Given the description of an element on the screen output the (x, y) to click on. 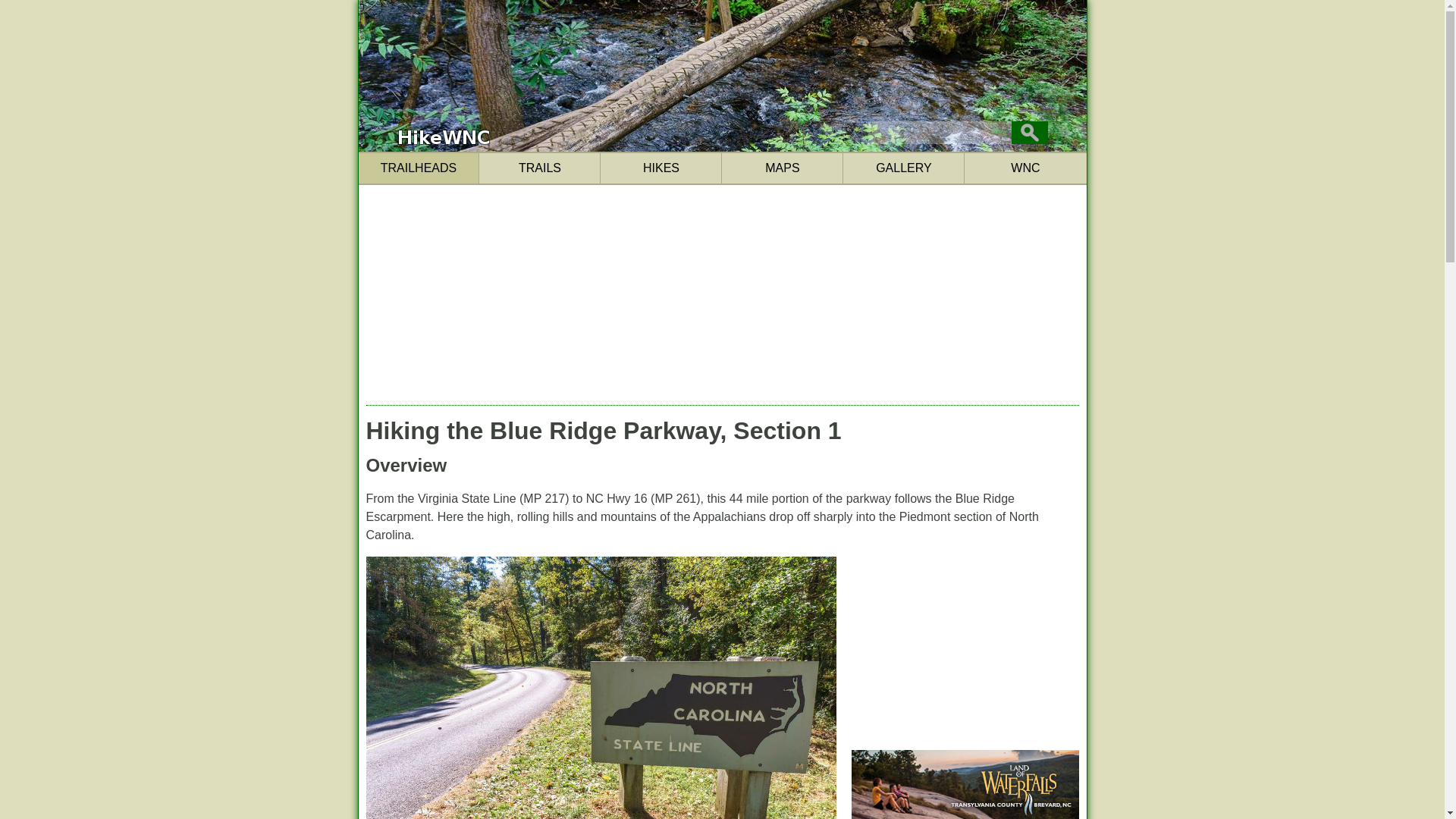
WNC (1024, 168)
HIKES (660, 168)
GALLERY (903, 168)
TRAILHEADS (418, 168)
Search (1029, 132)
TRAILS (539, 168)
Search (1029, 132)
MAPS (782, 168)
